Given the description of an element on the screen output the (x, y) to click on. 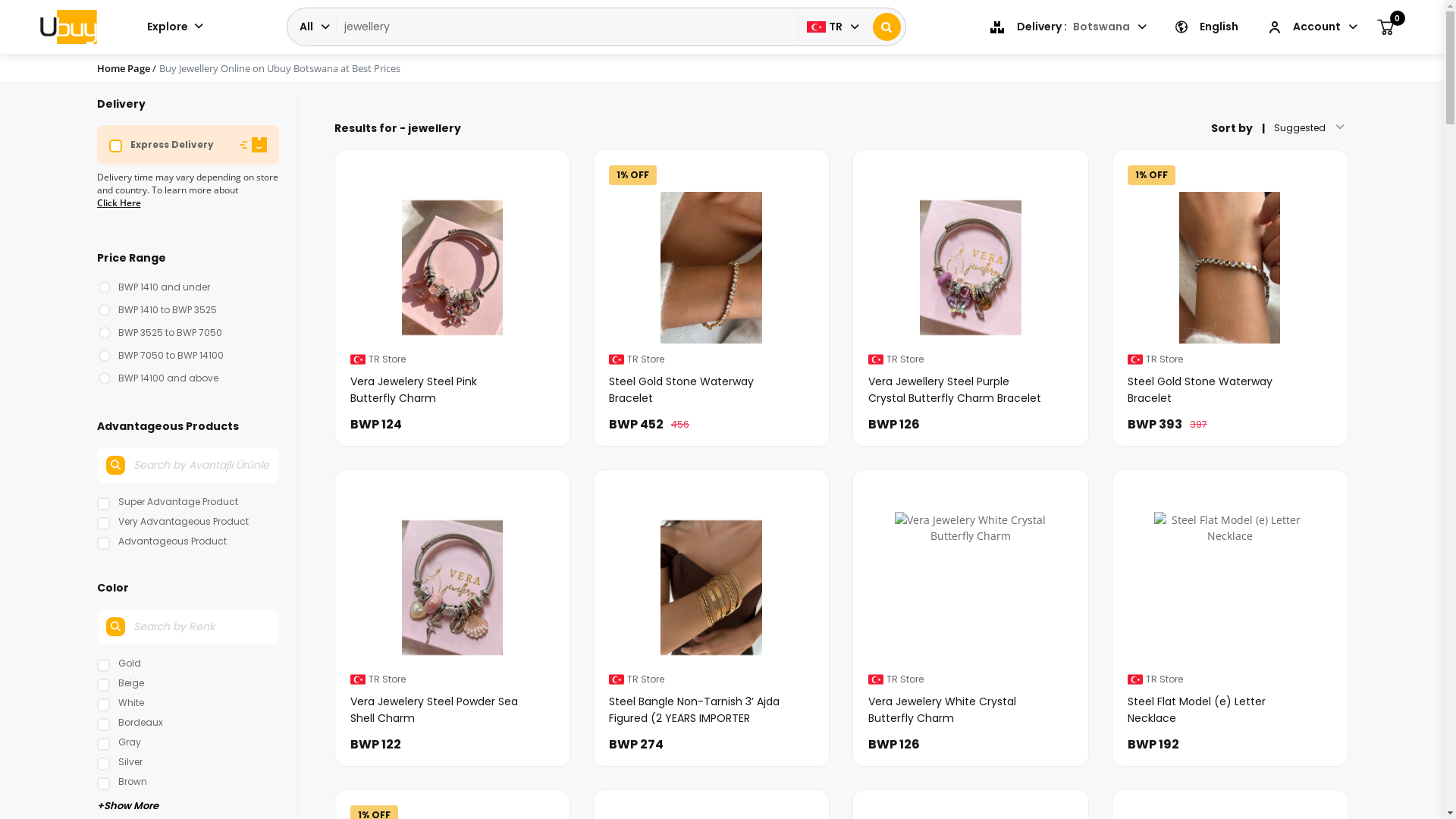
Steel Gold Stone Waterway Bracelet Element type: text (1229, 386)
Click Here Element type: text (119, 202)
+Show More Element type: text (188, 803)
All Element type: text (313, 26)
Home Page Element type: text (123, 68)
TR Store Element type: hover (616, 358)
Vera Jewelery White Crystal Butterfly Charm Element type: text (970, 706)
Vera Jewelery Steel Pink Butterfly Charm Element type: text (452, 386)
TR Store Element type: hover (357, 358)
Suggested Element type: text (1304, 127)
Vera Jewellery Steel Purple Crystal Butterfly Charm Bracelet Element type: text (970, 386)
TR Element type: text (832, 26)
TR Store Element type: hover (357, 678)
TR Store Element type: hover (875, 678)
Steel Gold Stone Waterway Bracelet Element type: text (710, 386)
Vera Jewelery Steel Powder Sea Shell Charm Element type: text (452, 706)
0 Element type: text (1385, 26)
TR Store Element type: hover (1134, 358)
TR Store Element type: hover (875, 358)
Ubuy Element type: hover (67, 26)
Steel Flat Model (e) Letter Necklace Element type: text (1229, 706)
TR Store Element type: hover (1134, 678)
TR Store Element type: hover (616, 678)
